Given the description of an element on the screen output the (x, y) to click on. 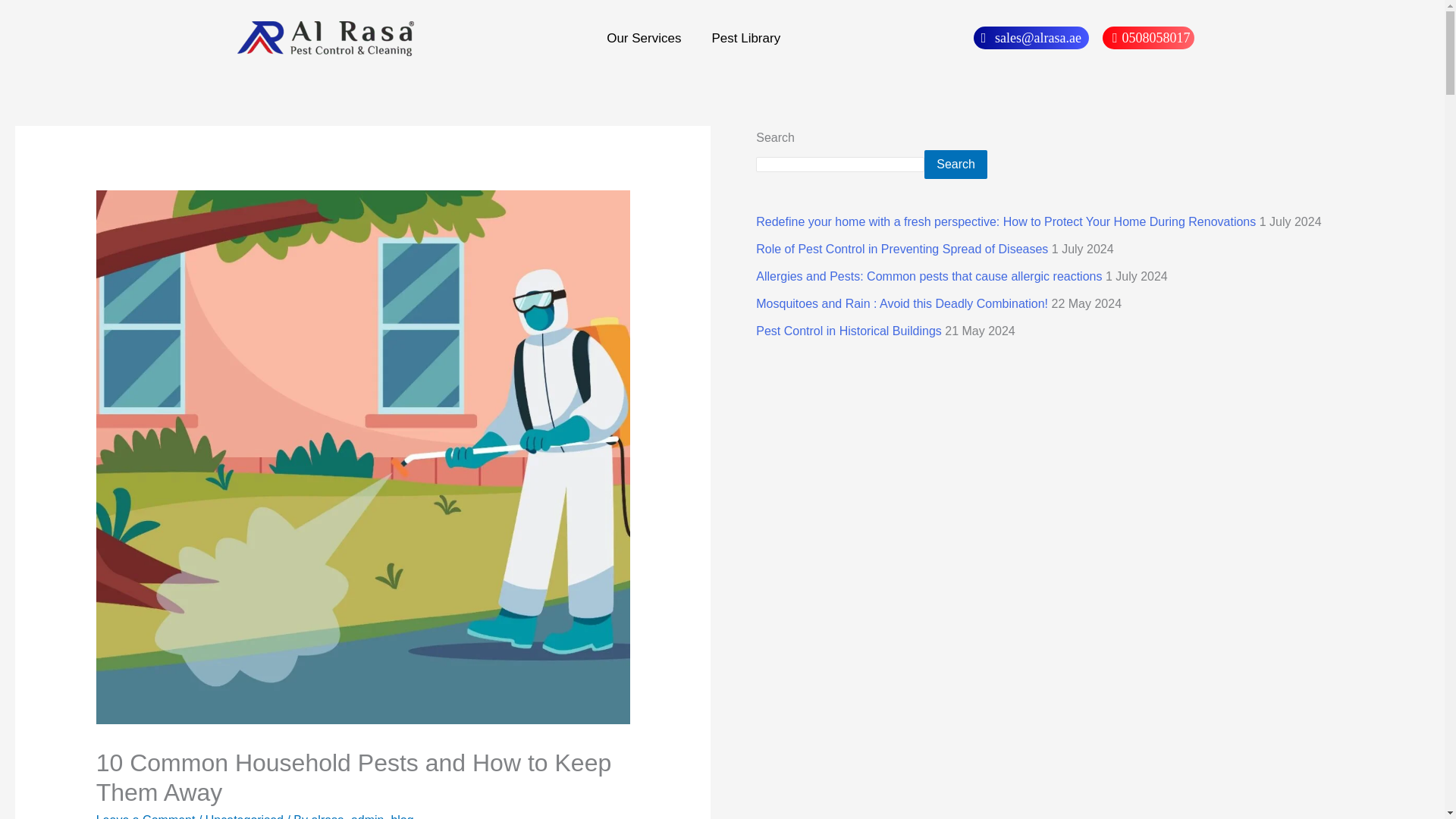
Pest Library (746, 38)
Our Services (647, 38)
Mosquitoes and Rain : Avoid this Deadly Combination!  (903, 303)
0508058017 (1147, 37)
Role of Pest Control in Preventing Spread of Diseases  (903, 248)
Search (955, 164)
Leave a Comment (145, 816)
Pest Control in Historical Buildings  (849, 330)
Uncategorised (244, 816)
